Given the description of an element on the screen output the (x, y) to click on. 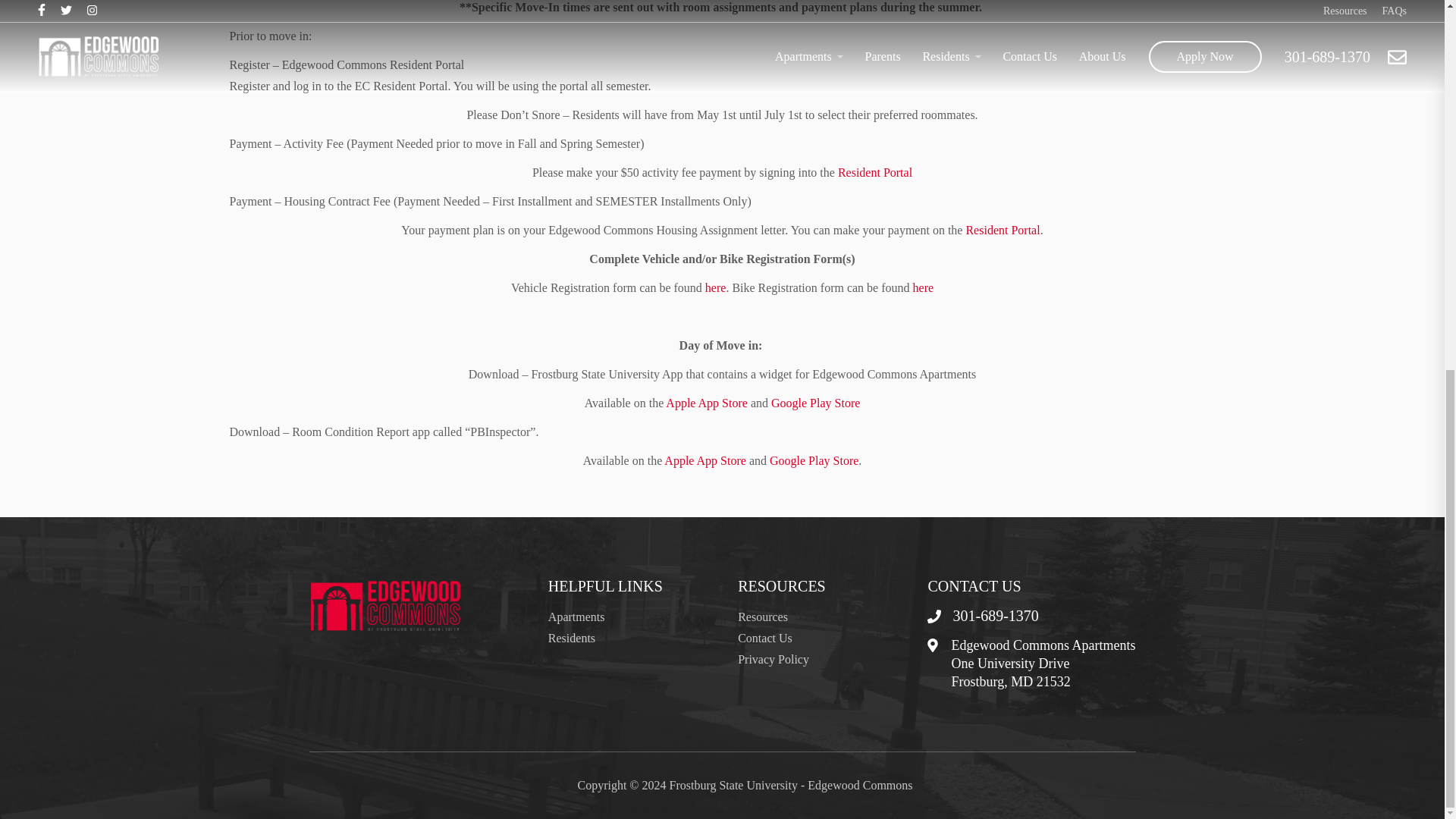
Resident Portal (875, 172)
Apple App Store (704, 460)
Resources (762, 616)
Resident Portal (1002, 229)
Privacy Policy (773, 658)
301-689-1370 (982, 615)
Residents (571, 637)
Contact Us (765, 637)
EC Resident Portal (875, 172)
Google Play Store (815, 402)
PB Inspector - Apple (704, 460)
Apartments (576, 616)
Google Play Store (814, 460)
here (923, 287)
Apple App Store (706, 402)
